Given the description of an element on the screen output the (x, y) to click on. 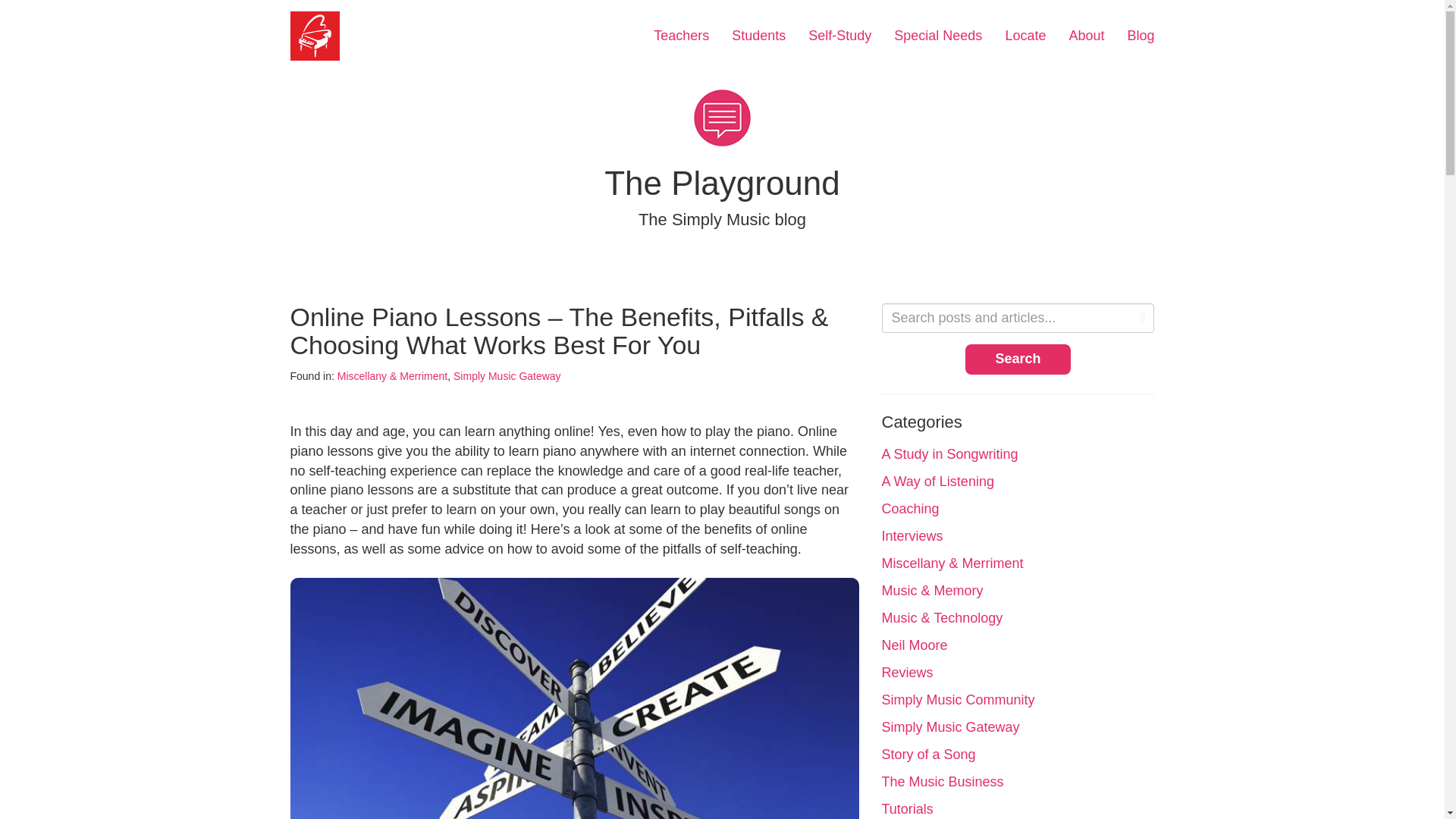
Search (1017, 358)
Home (314, 36)
Special Needs (937, 36)
Teachers (681, 36)
Self-Study (839, 36)
Coaching (909, 508)
Special Needs (937, 36)
A Way of Listening (936, 481)
Simply Music Gateway (506, 376)
Students (758, 36)
